Given the description of an element on the screen output the (x, y) to click on. 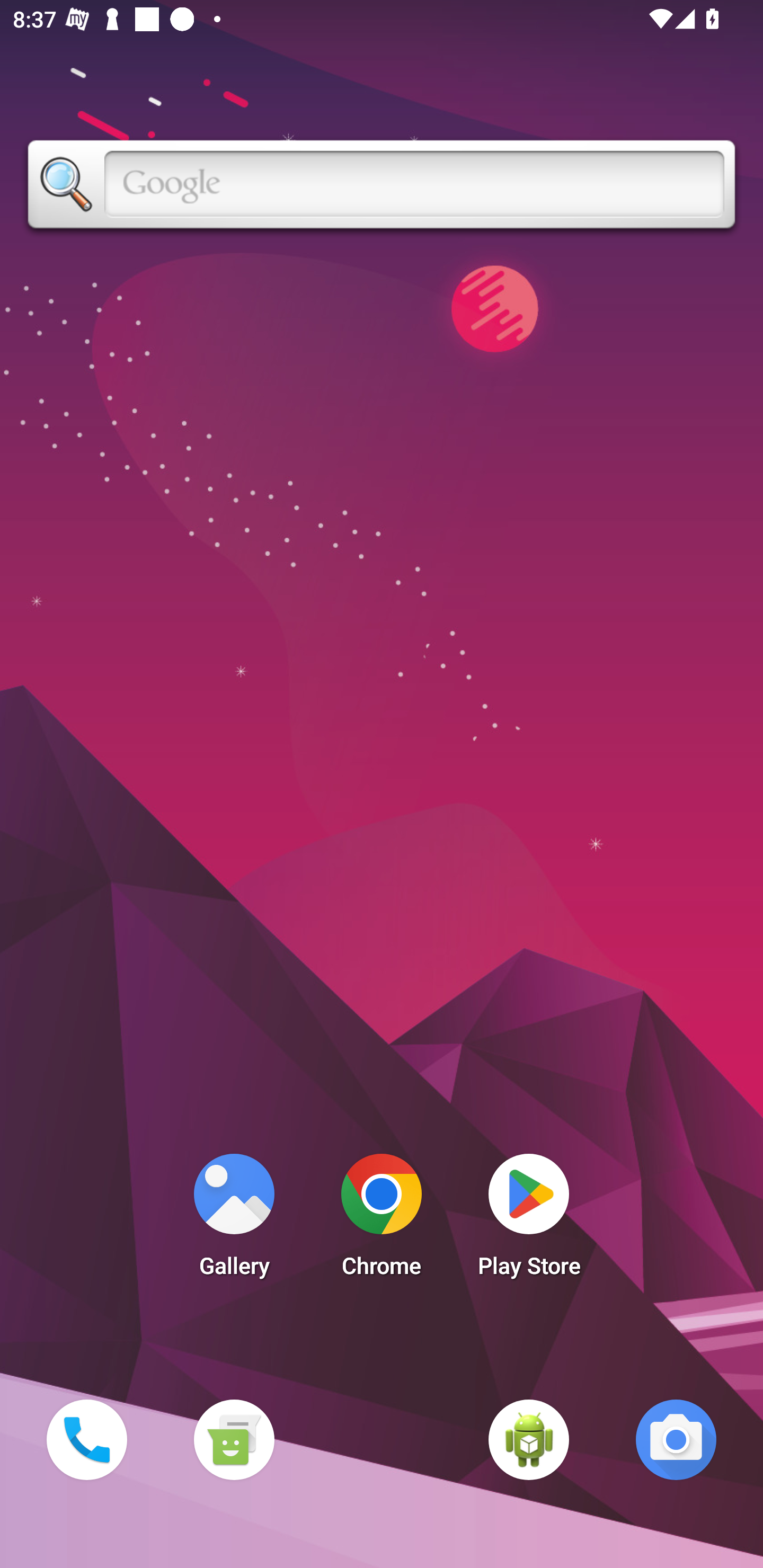
Gallery (233, 1220)
Chrome (381, 1220)
Play Store (528, 1220)
Phone (86, 1439)
Messaging (233, 1439)
WebView Browser Tester (528, 1439)
Camera (676, 1439)
